Given the description of an element on the screen output the (x, y) to click on. 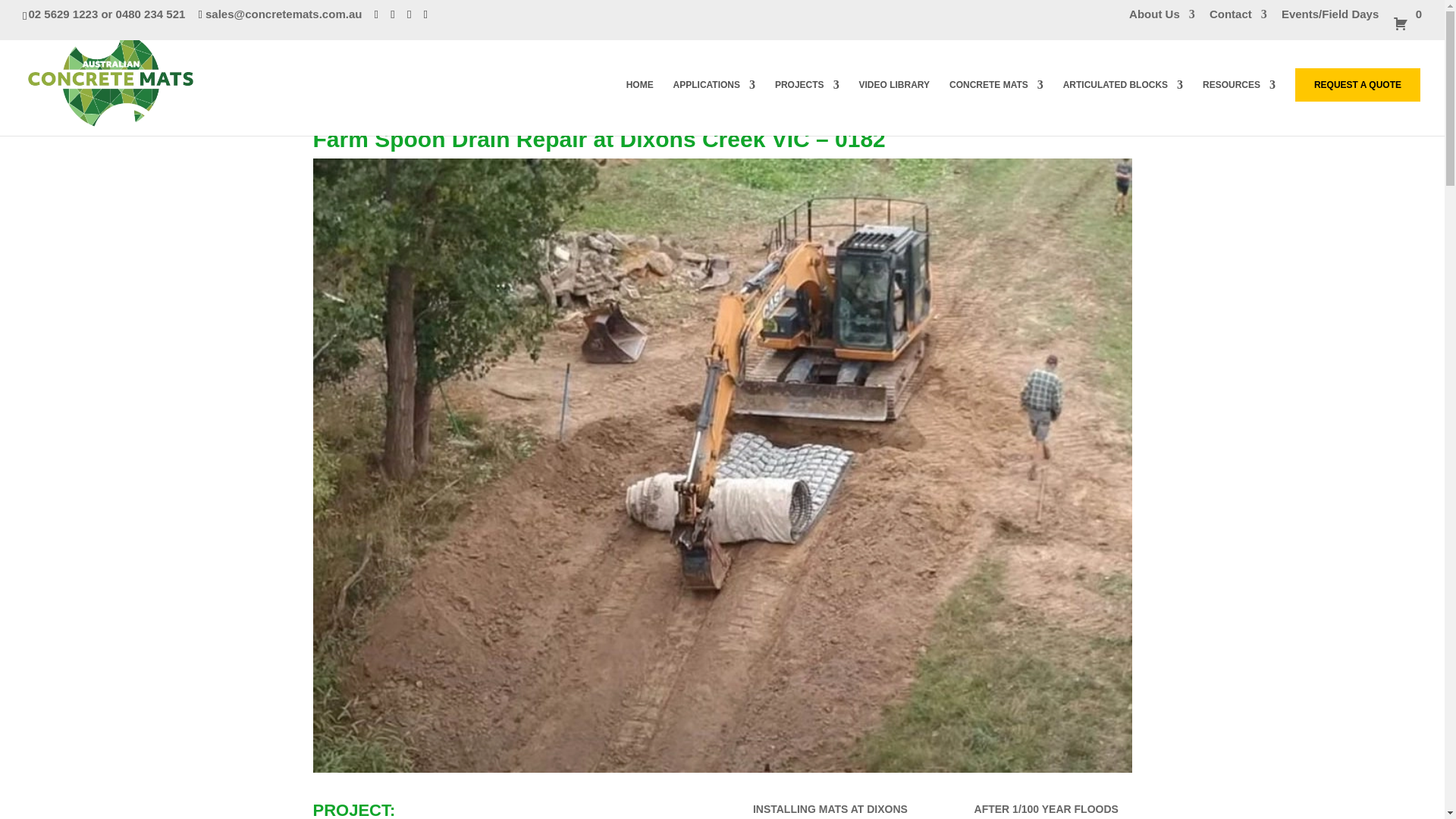
Contact (1237, 17)
View Estimate (1407, 23)
About Us (1162, 17)
APPLICATIONS (713, 107)
0 (1407, 23)
